Given the description of an element on the screen output the (x, y) to click on. 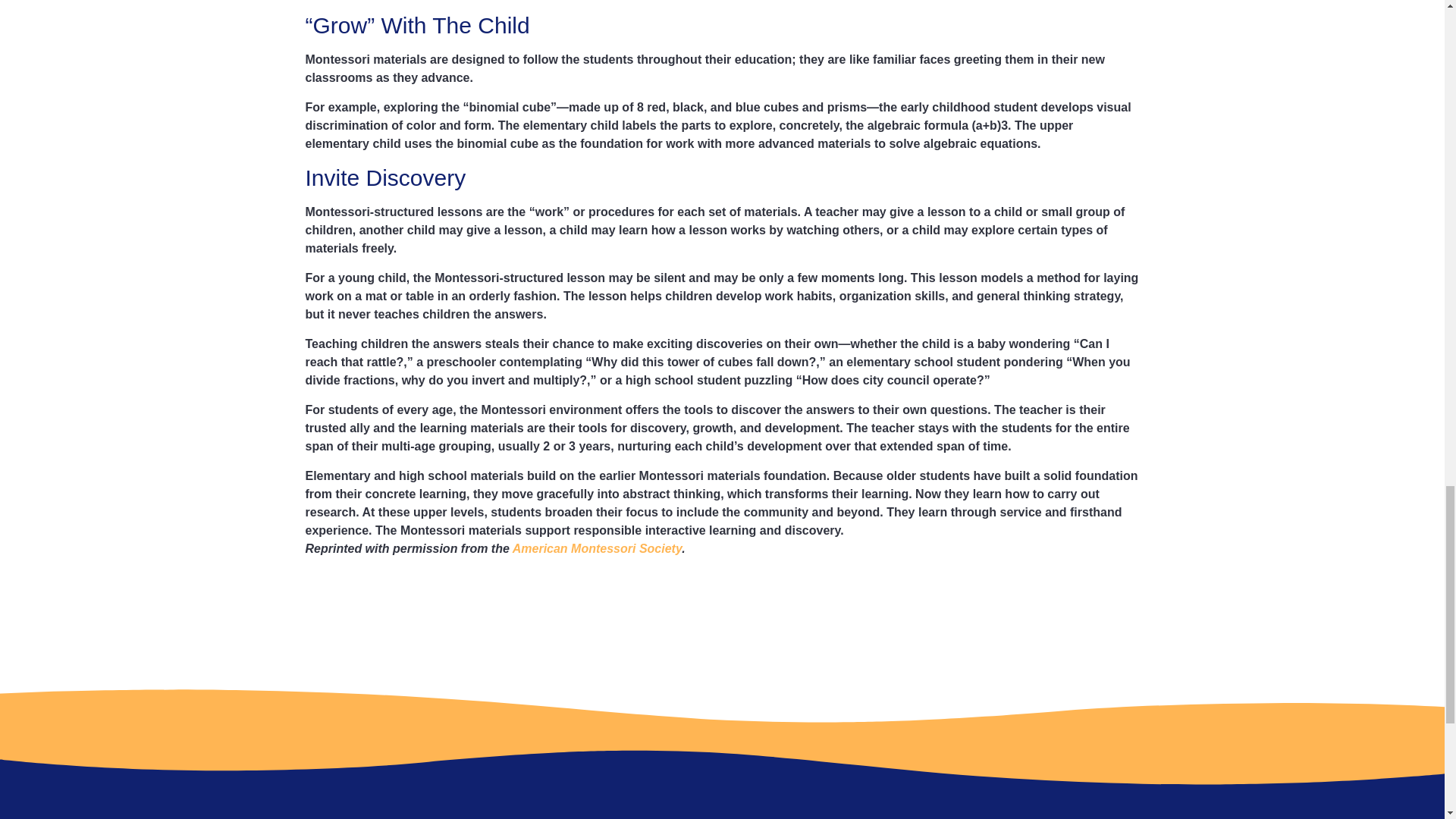
American Montessori Society (596, 548)
